Given the description of an element on the screen output the (x, y) to click on. 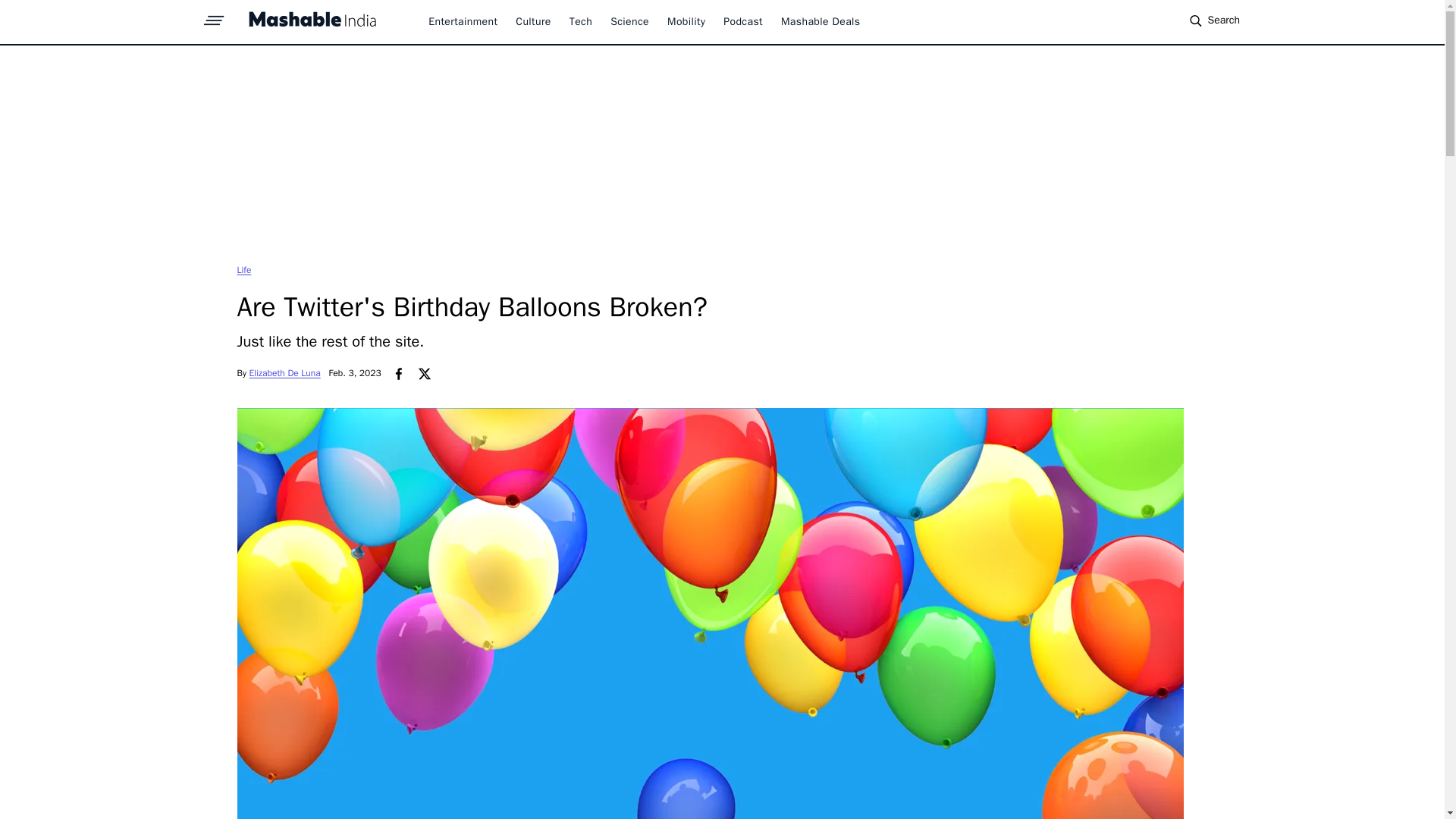
Science (629, 21)
Culture (532, 21)
Elizabeth De Luna (284, 372)
Life (242, 269)
Mobility (685, 21)
Entertainment (462, 21)
sprite-hamburger (213, 16)
Mashable Deals (820, 21)
Life (242, 269)
Podcast (742, 21)
Tech (580, 21)
